Given the description of an element on the screen output the (x, y) to click on. 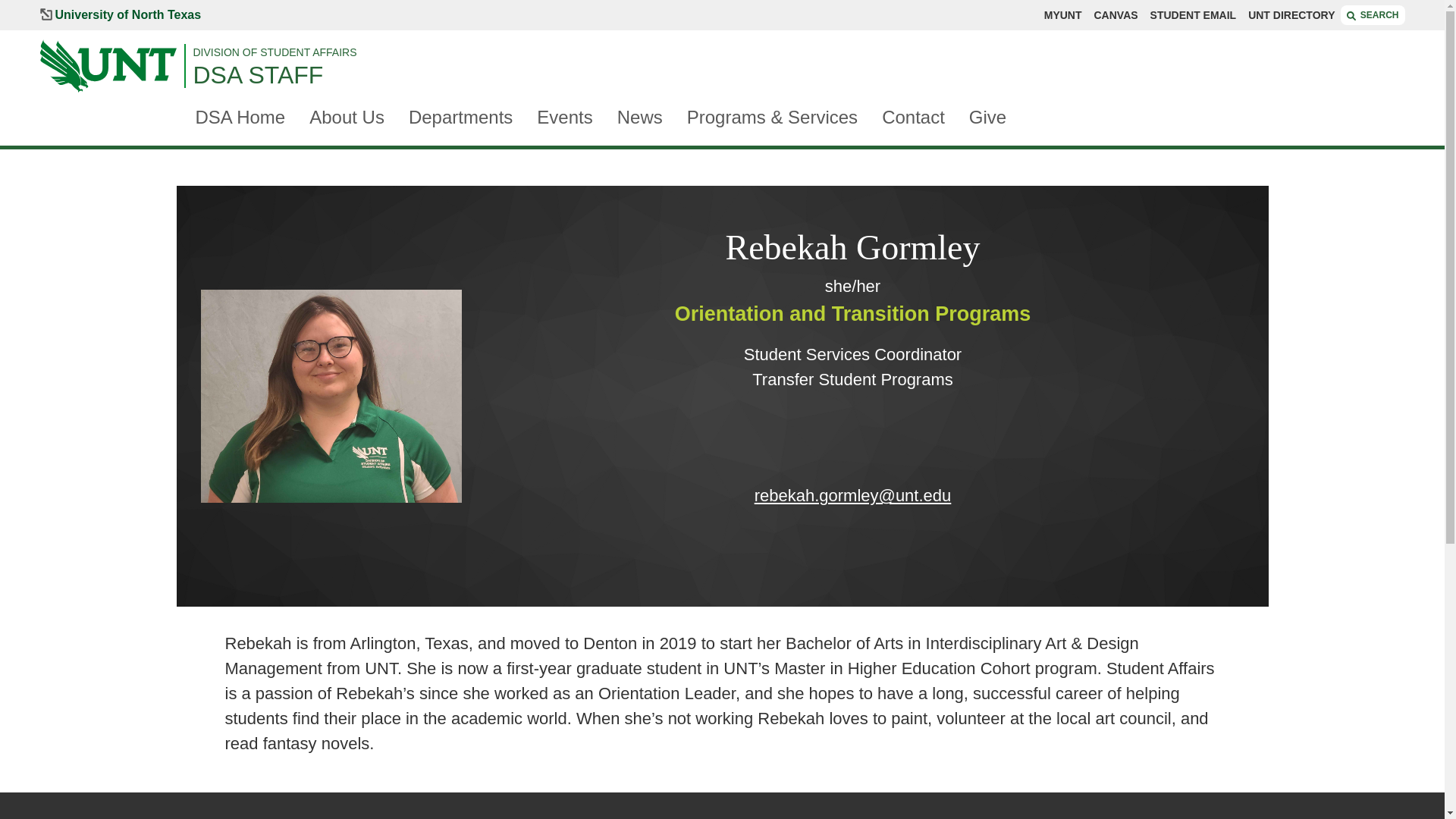
DSA Home (240, 118)
Events (564, 118)
STUDENT EMAIL (1193, 15)
Skip to main content (82, 7)
News (639, 118)
Give (987, 118)
CANVAS (1115, 15)
Contact (913, 118)
DIVISION OF STUDENT AFFAIRS (798, 52)
DSA Staff (798, 74)
DSA STAFF (798, 74)
UNT DIRECTORY (1291, 15)
University of North Texas (119, 14)
About Us (346, 118)
SEARCH (1372, 14)
